Given the description of an element on the screen output the (x, y) to click on. 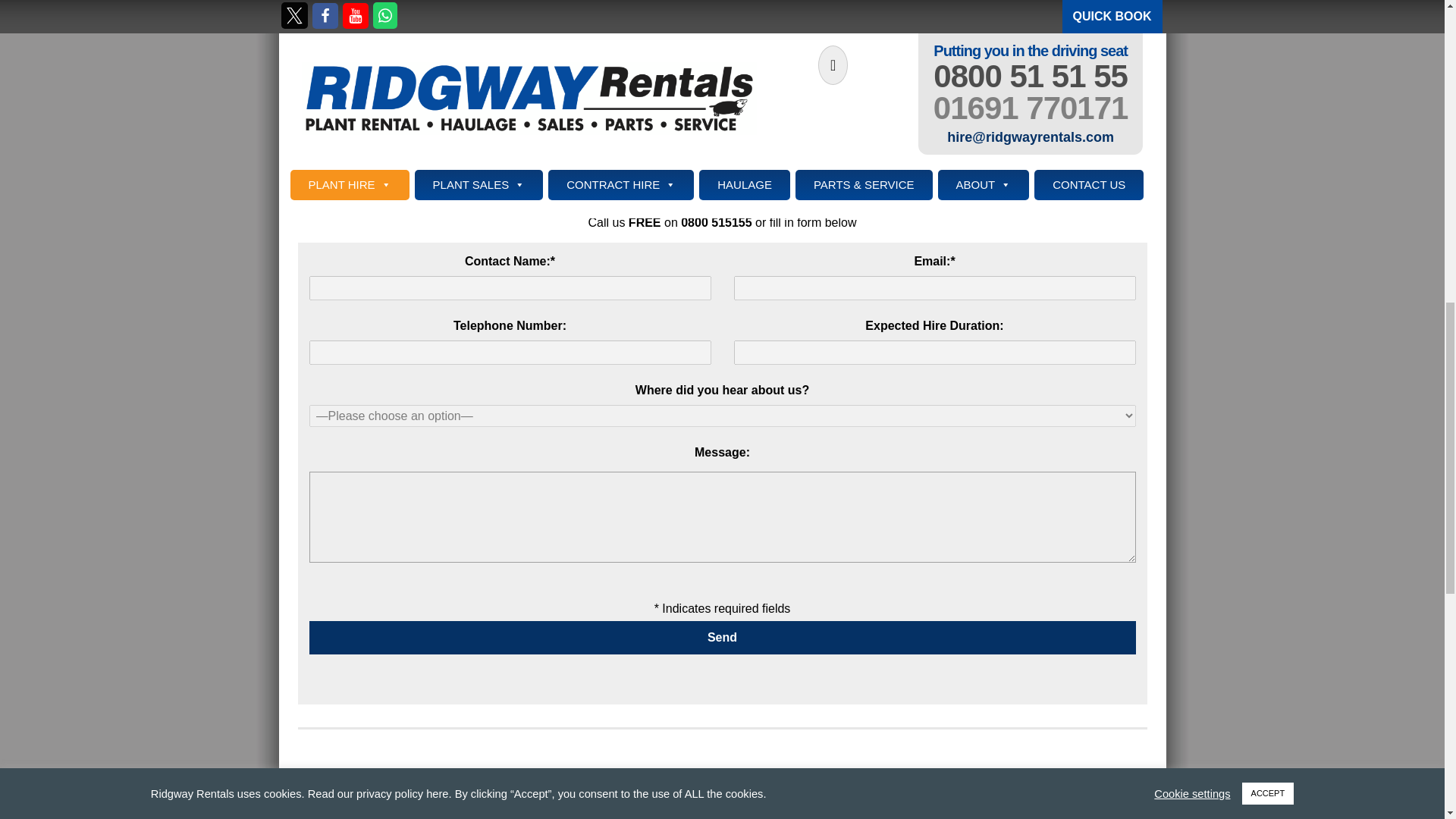
Send (721, 637)
Read More (781, 89)
Read More (500, 89)
